Given the description of an element on the screen output the (x, y) to click on. 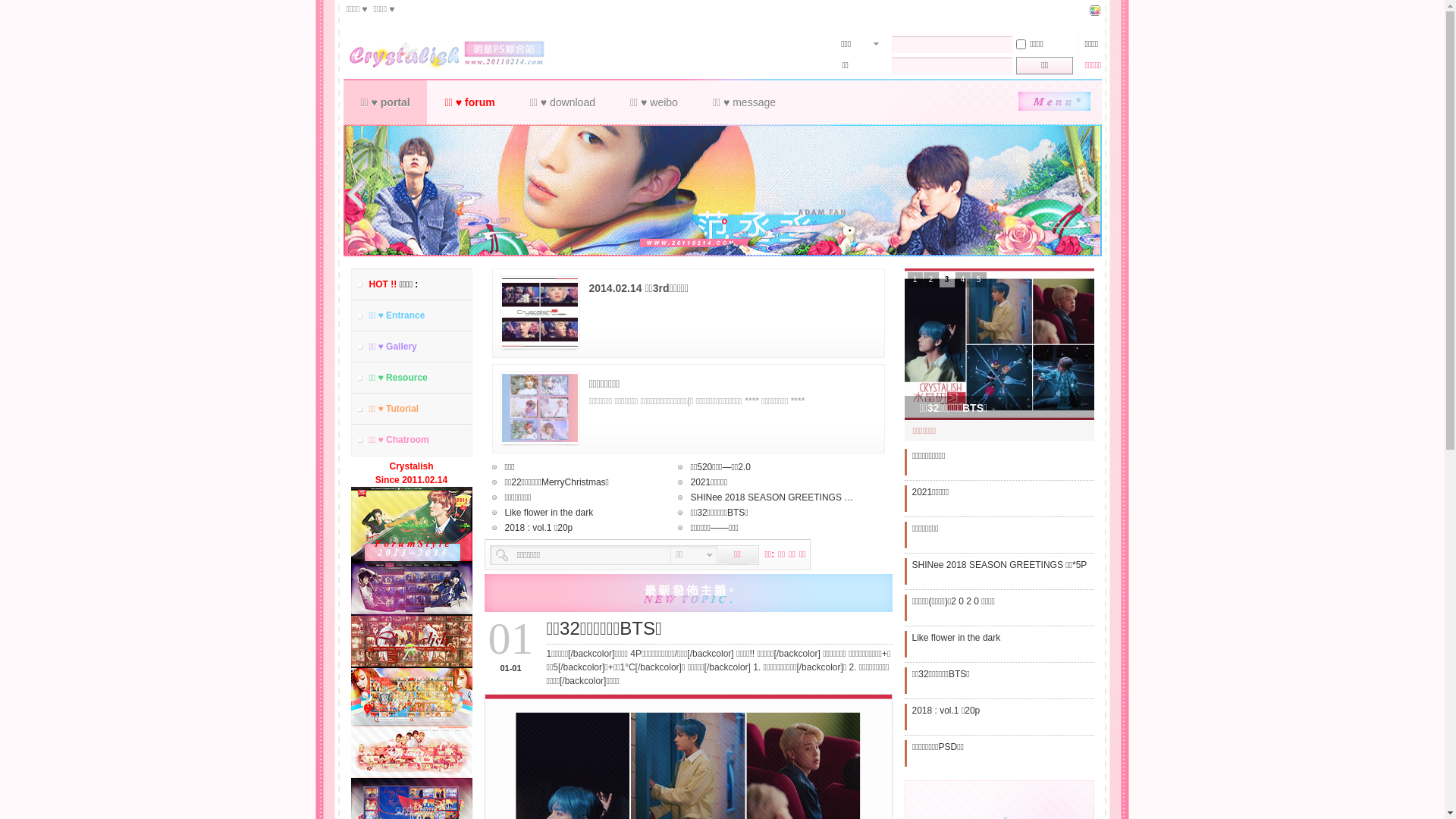
  Element type: text (451, 49)
Like flower in the dark Element type: text (955, 601)
Like flower in the dark Element type: text (580, 512)
